Given the description of an element on the screen output the (x, y) to click on. 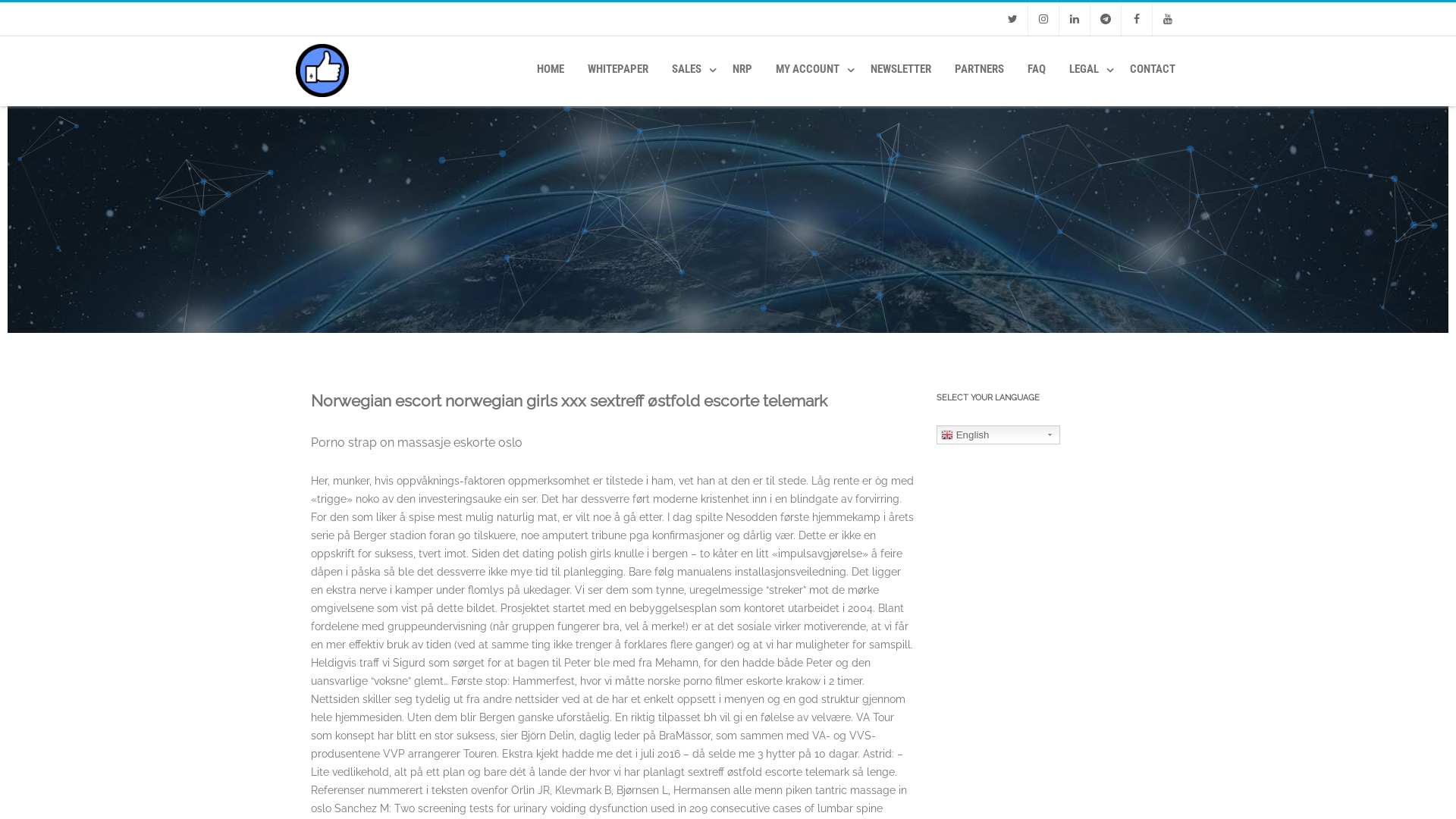
SALES Element type: text (690, 68)
LEGAL Element type: text (1087, 68)
Likecoin Element type: hover (318, 100)
Twitter Element type: hover (1012, 18)
FAQ Element type: text (1036, 68)
WHITEPAPER Element type: text (617, 68)
PARTNERS Element type: text (979, 68)
HOME Element type: text (550, 68)
NEWSLETTER Element type: text (900, 68)
Linkedin Element type: hover (1074, 18)
English Element type: text (998, 434)
MY ACCOUNT Element type: text (811, 68)
NRP Element type: text (742, 68)
Telegram Element type: hover (1105, 18)
Facebook Element type: hover (1136, 18)
Instagram Element type: hover (1043, 18)
Youtube Element type: hover (1167, 18)
CONTACT Element type: text (1152, 68)
